Given the description of an element on the screen output the (x, y) to click on. 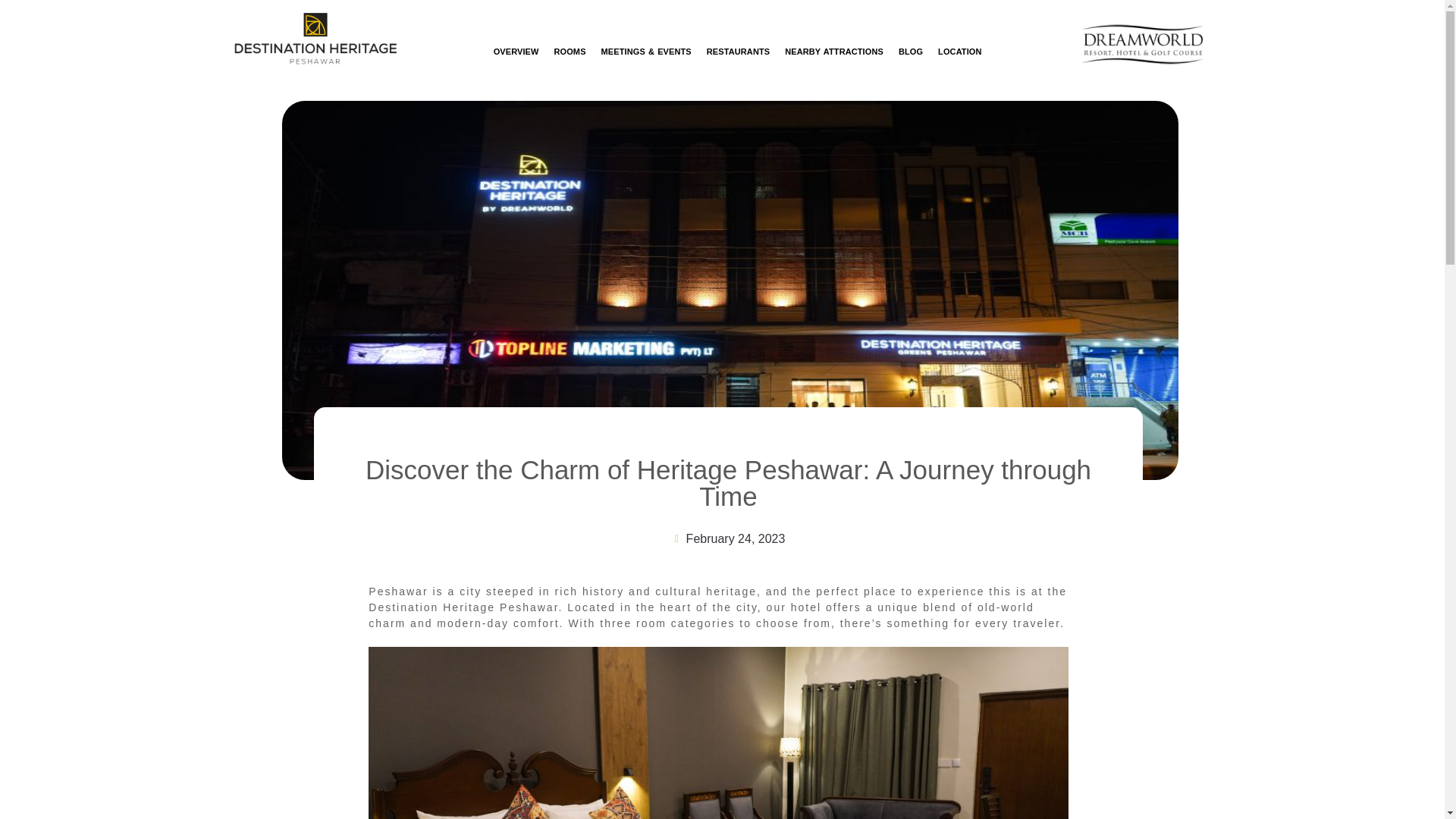
LOCATION (959, 51)
BLOG (910, 51)
OVERVIEW (516, 51)
NEARBY ATTRACTIONS (834, 51)
ROOMS (570, 51)
RESTAURANTS (737, 51)
